Given the description of an element on the screen output the (x, y) to click on. 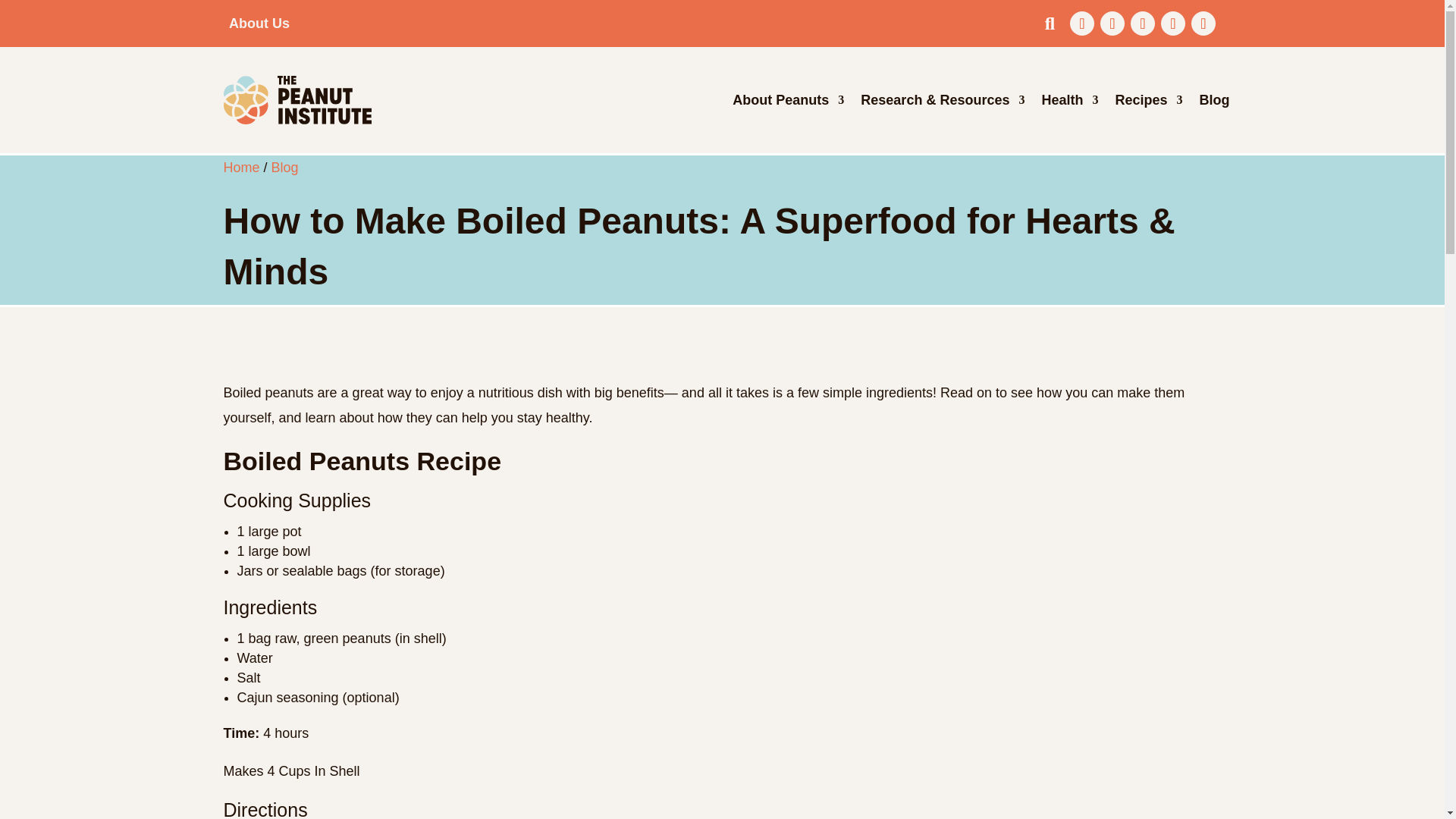
Follow on Youtube (1203, 23)
About Peanuts (788, 100)
Follow on Facebook (1082, 23)
Health (1069, 100)
Follow on Instagram (1142, 23)
Follow on X (1112, 23)
Follow on Pinterest (1172, 23)
Recipes (1148, 100)
About Us (258, 23)
